Given the description of an element on the screen output the (x, y) to click on. 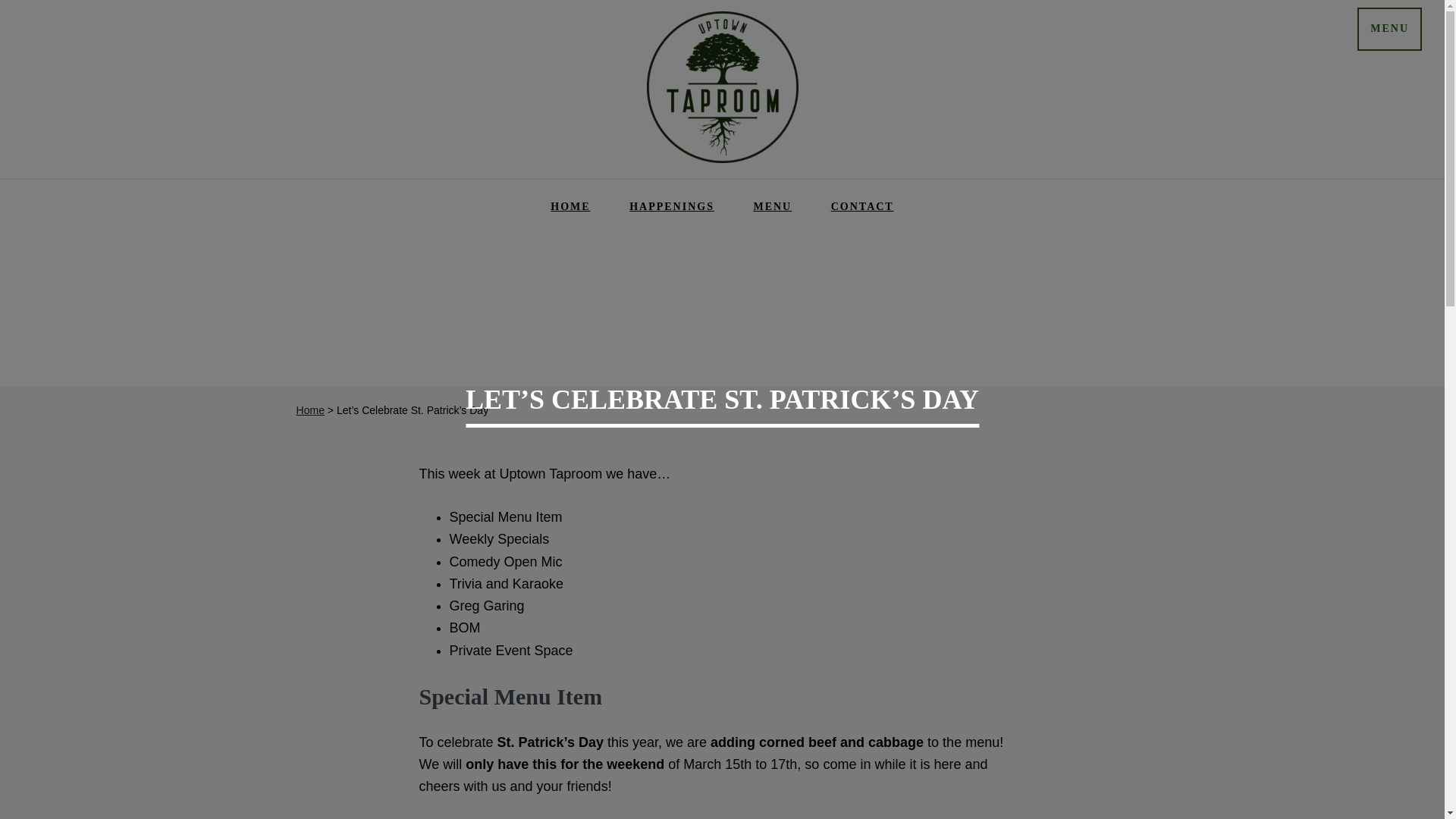
Home (310, 410)
MENU (772, 207)
HAPPENINGS (671, 207)
HOME (570, 207)
MENU (1389, 28)
CONTACT (862, 207)
